Given the description of an element on the screen output the (x, y) to click on. 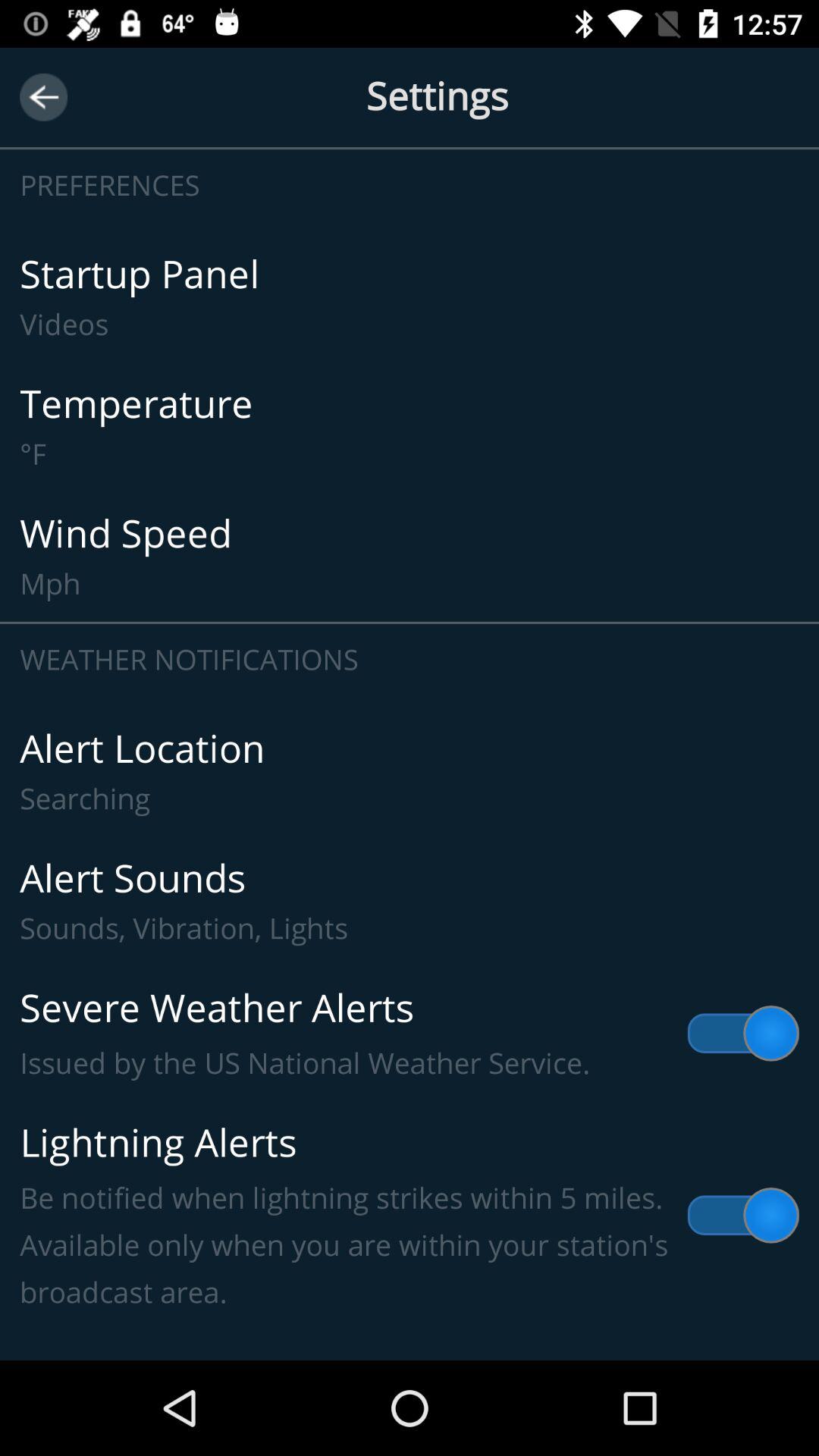
turn on the wind speed
mph icon (409, 556)
